Given the description of an element on the screen output the (x, y) to click on. 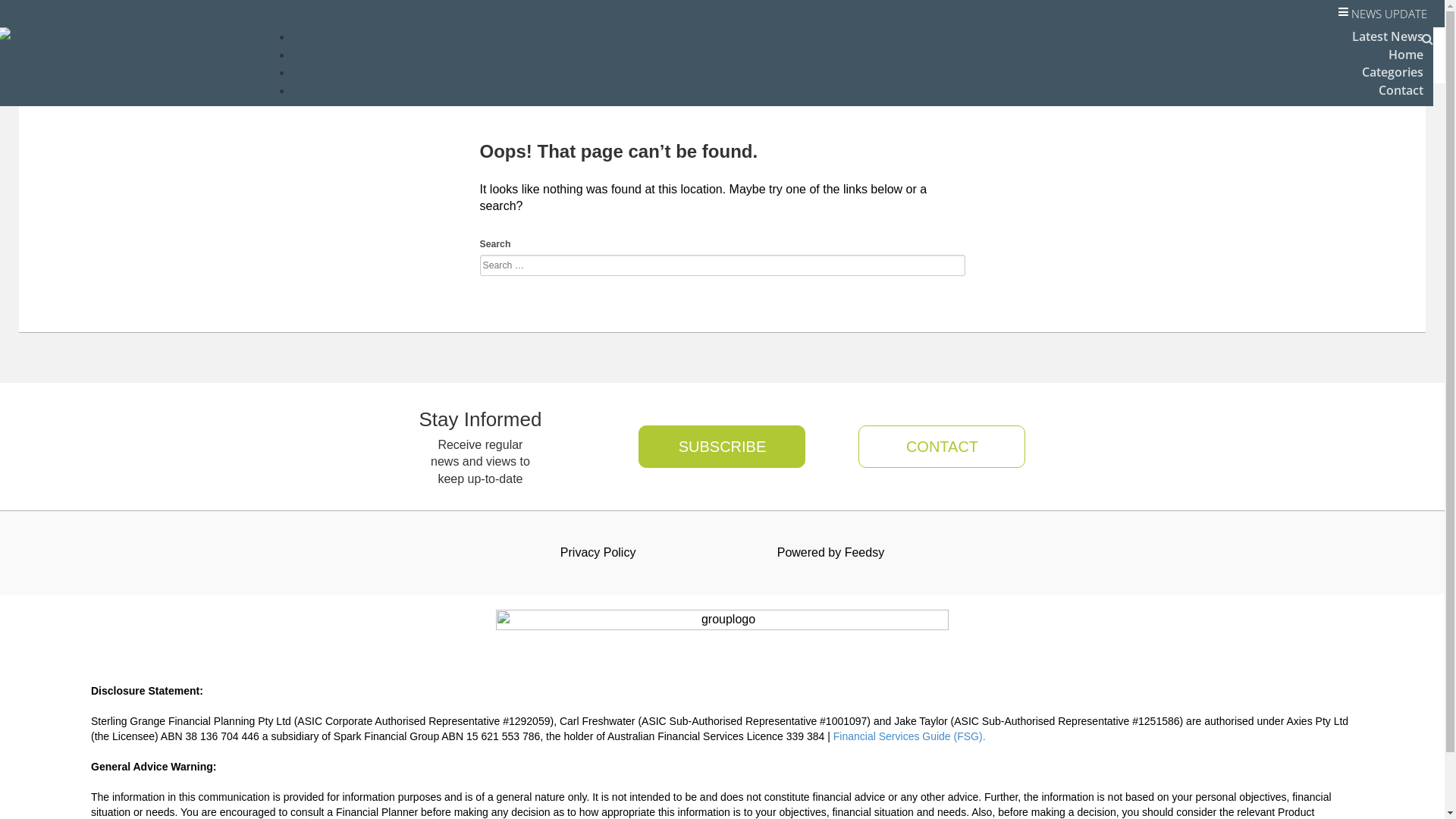
Contact Element type: text (1400, 89)
Latest News Element type: text (1387, 36)
Home Element type: text (1405, 54)
Privacy Policy Element type: text (598, 552)
Search Element type: text (33, 17)
Financial Services Guide (FSG). Element type: text (909, 736)
CONTACT Element type: text (932, 446)
Categories Element type: text (1392, 71)
SUBSCRIBE Element type: text (721, 446)
